Given the description of an element on the screen output the (x, y) to click on. 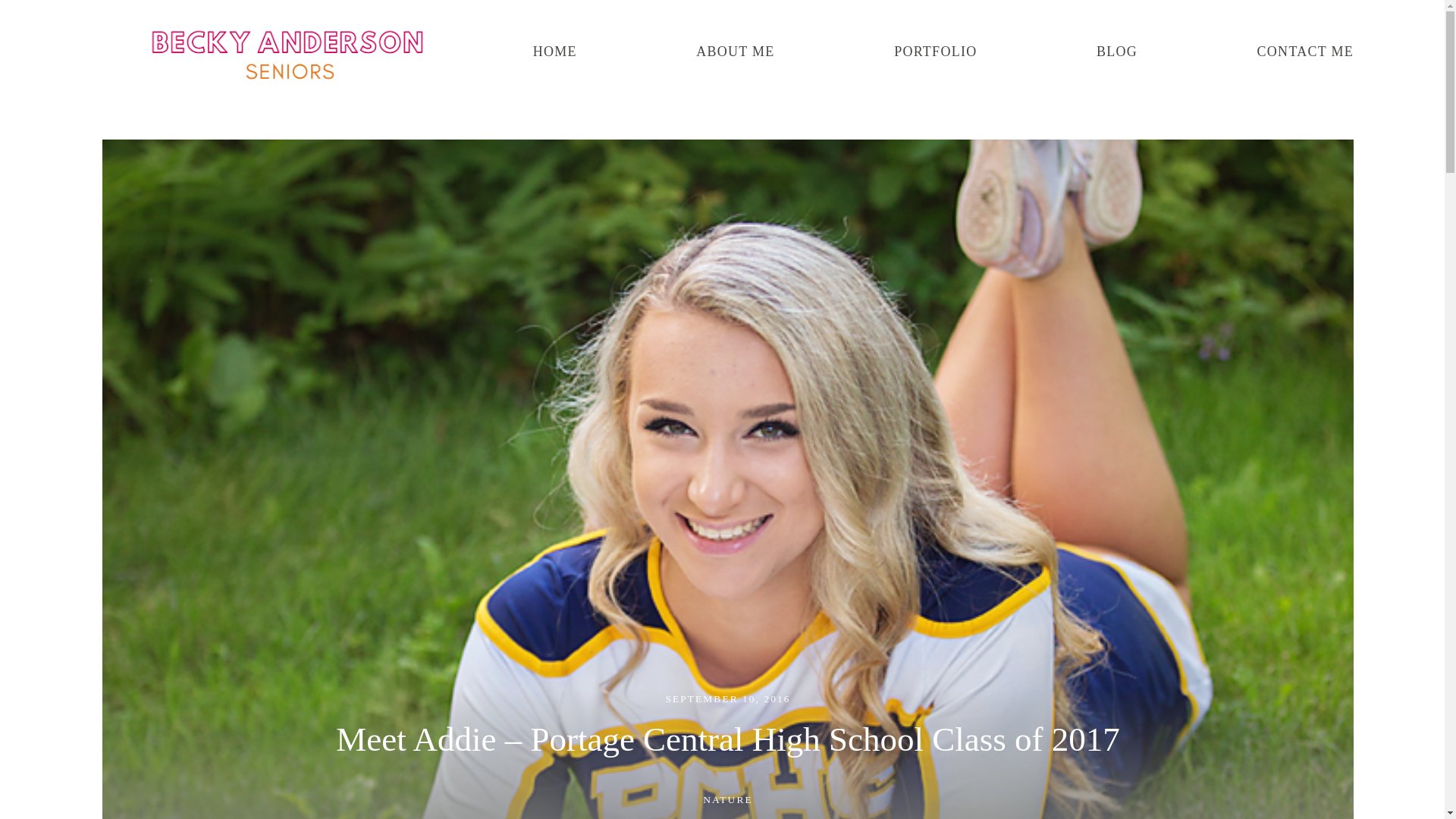
PORTFOLIO (934, 52)
CONTACT ME (1305, 52)
HOME (554, 52)
NATURE (727, 799)
ABOUT ME (734, 52)
BLOG (1116, 52)
